Given the description of an element on the screen output the (x, y) to click on. 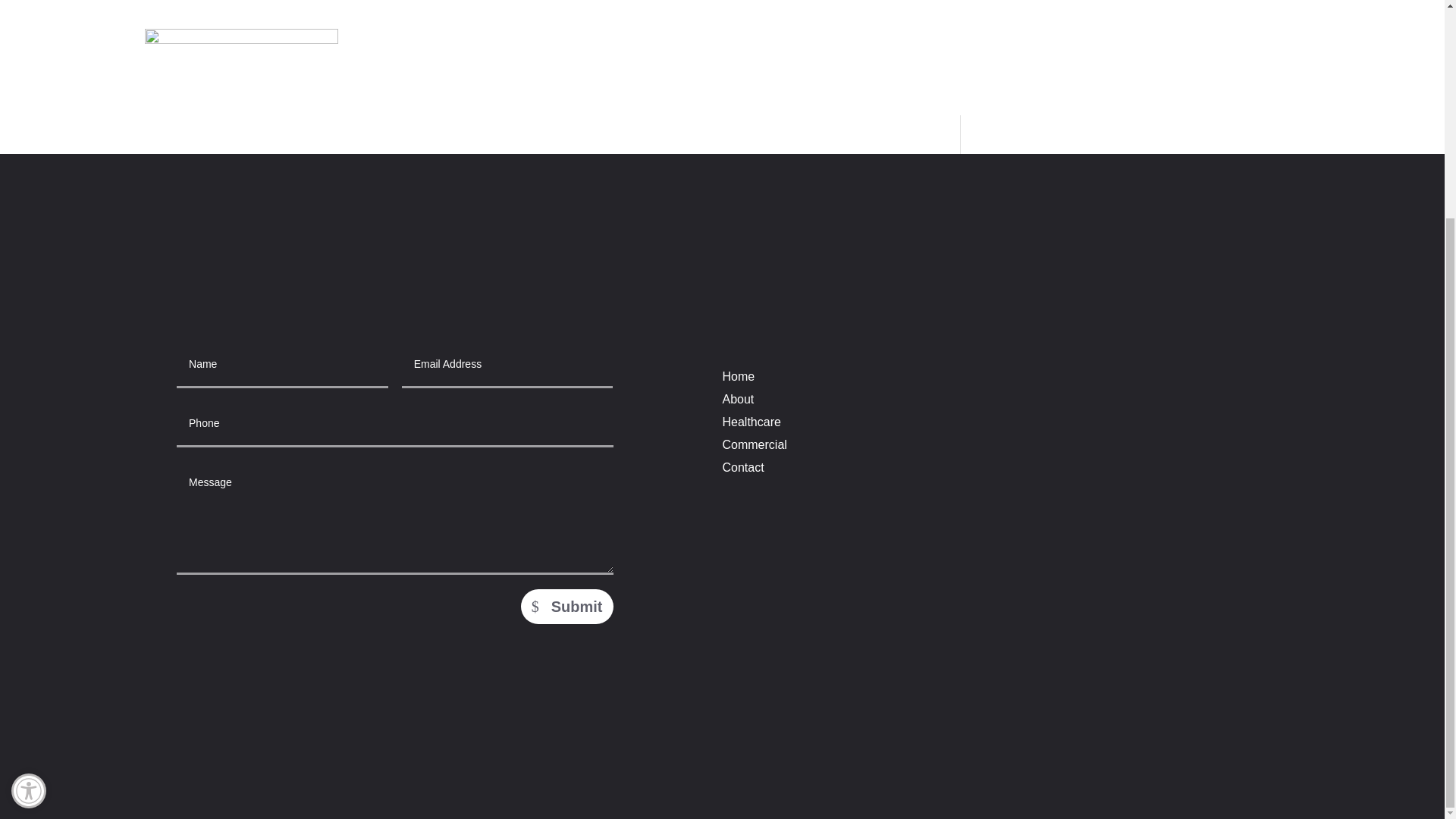
Healthcare (751, 425)
Submit (566, 606)
Accessibility Tools (28, 503)
Home (738, 379)
WordPress.org (1026, 97)
Log in (1000, 9)
Comments feed (1029, 68)
Entries feed (1018, 38)
Accessibility Tools (28, 503)
Minimum length: 5 characters. Maximum length: 20 characters. (394, 424)
Contact (742, 470)
Commercial (754, 447)
About (28, 503)
